Given the description of an element on the screen output the (x, y) to click on. 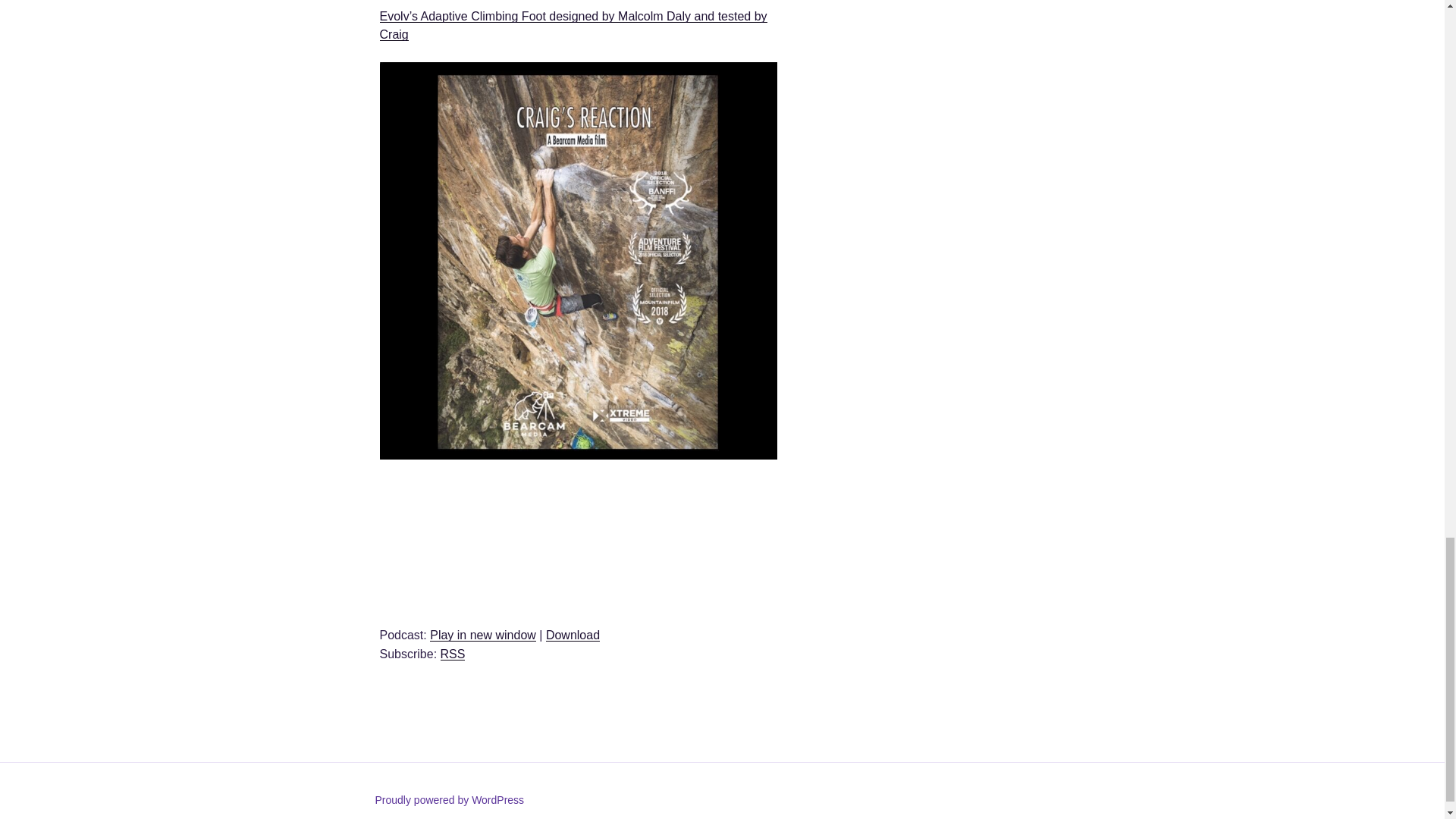
Play in new window (482, 634)
Blubrry Podcast Player (577, 539)
Download (572, 634)
Subscribe via RSS (453, 653)
